Given the description of an element on the screen output the (x, y) to click on. 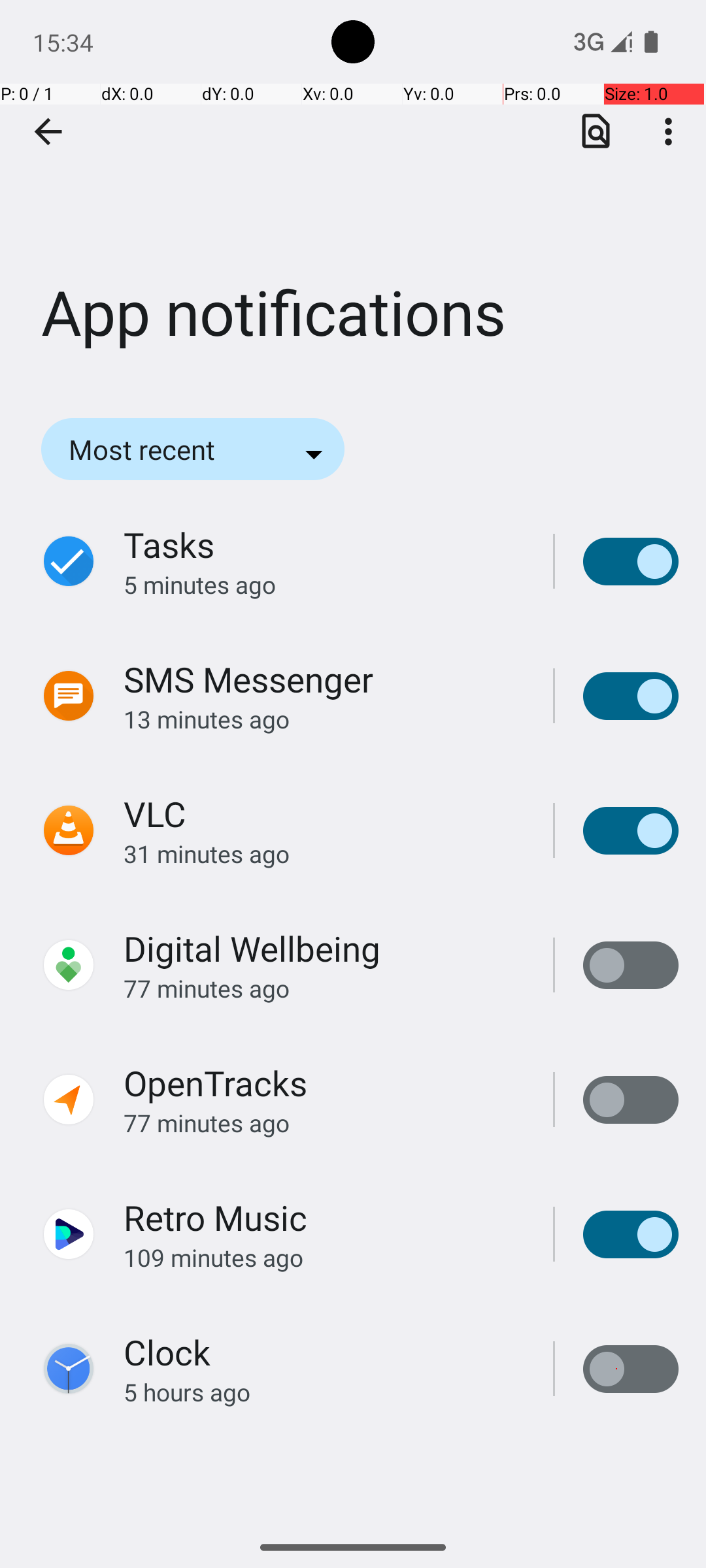
App notifications Element type: android.widget.FrameLayout (353, 195)
Most recent Element type: android.widget.TextView (159, 448)
5 minutes ago Element type: android.widget.TextView (324, 584)
13 minutes ago Element type: android.widget.TextView (324, 718)
31 minutes ago Element type: android.widget.TextView (324, 853)
Digital Wellbeing Element type: android.widget.TextView (252, 948)
77 minutes ago Element type: android.widget.TextView (324, 987)
109 minutes ago Element type: android.widget.TextView (324, 1257)
5 hours ago Element type: android.widget.TextView (324, 1391)
